Given the description of an element on the screen output the (x, y) to click on. 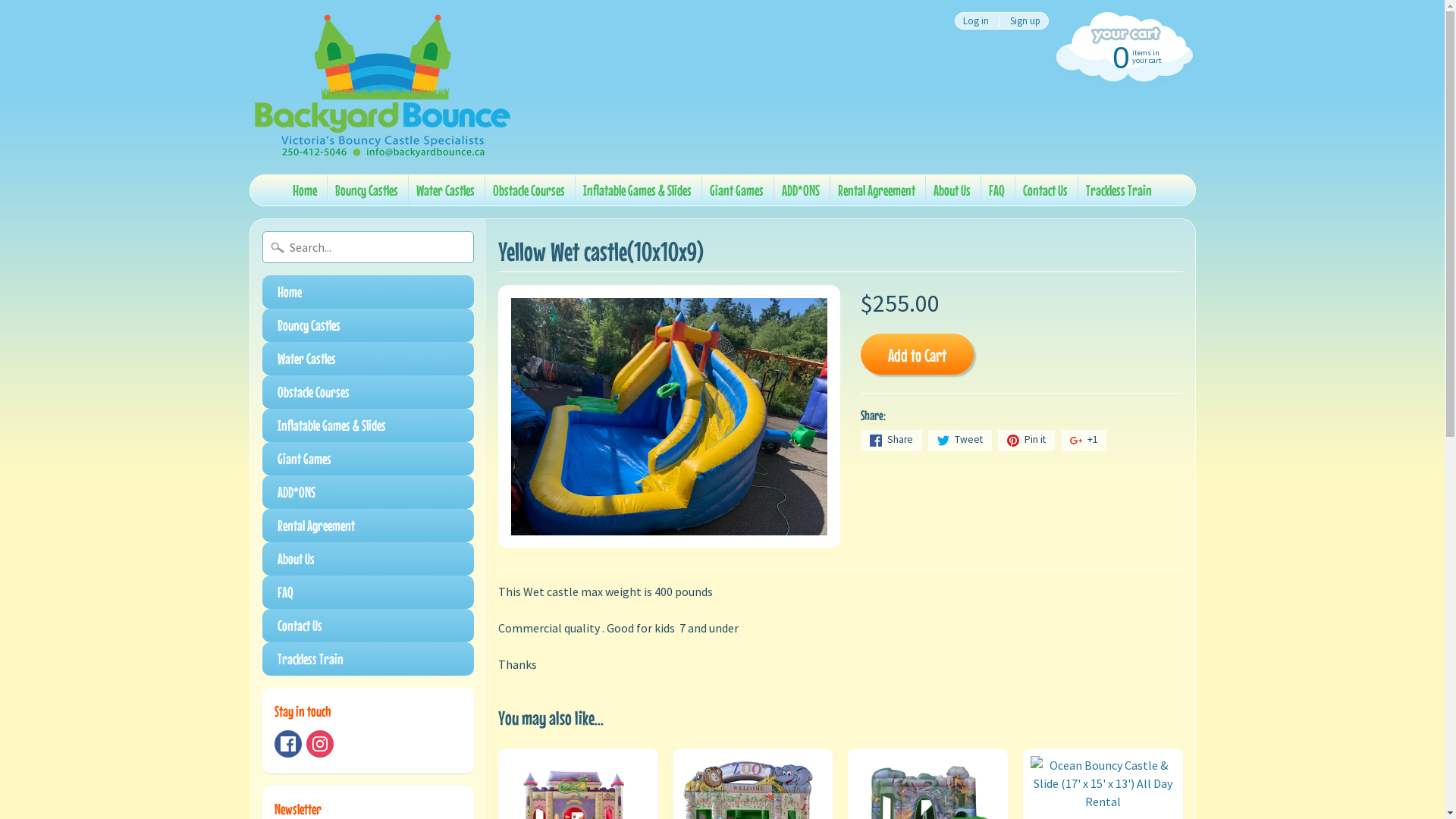
Contact Us Element type: text (368, 625)
Bouncy Castles Element type: text (366, 190)
Tweet Element type: text (959, 440)
Water Castles Element type: text (445, 190)
ADD*ONS Element type: text (368, 491)
Water Castles Element type: text (368, 358)
+1 Element type: text (1083, 440)
Sign up Element type: text (1024, 20)
FAQ Element type: text (368, 591)
FAQ Element type: text (996, 190)
Trackless Train Element type: text (1118, 190)
Home Element type: text (304, 190)
Backyard Bounce Element type: hover (381, 87)
0
items in your cart Element type: text (1122, 56)
Rental Agreement Element type: text (368, 525)
Add to Cart Element type: text (916, 353)
About Us Element type: text (368, 558)
Instagram Element type: hover (319, 743)
Inflatable Games & Slides Element type: text (637, 190)
Contact Us Element type: text (1045, 190)
Facebook Element type: hover (287, 743)
Inflatable Games & Slides Element type: text (368, 425)
Home Element type: text (368, 291)
Trackless Train Element type: text (368, 658)
Bouncy Castles Element type: text (368, 325)
Share Element type: text (891, 440)
Log in Element type: text (975, 20)
Obstacle Courses Element type: text (368, 391)
About Us Element type: text (951, 190)
Pin it Element type: text (1025, 440)
Rental Agreement Element type: text (876, 190)
Giant Games Element type: text (736, 190)
Giant Games Element type: text (368, 458)
Obstacle Courses Element type: text (528, 190)
ADD*ONS Element type: text (800, 190)
